Given the description of an element on the screen output the (x, y) to click on. 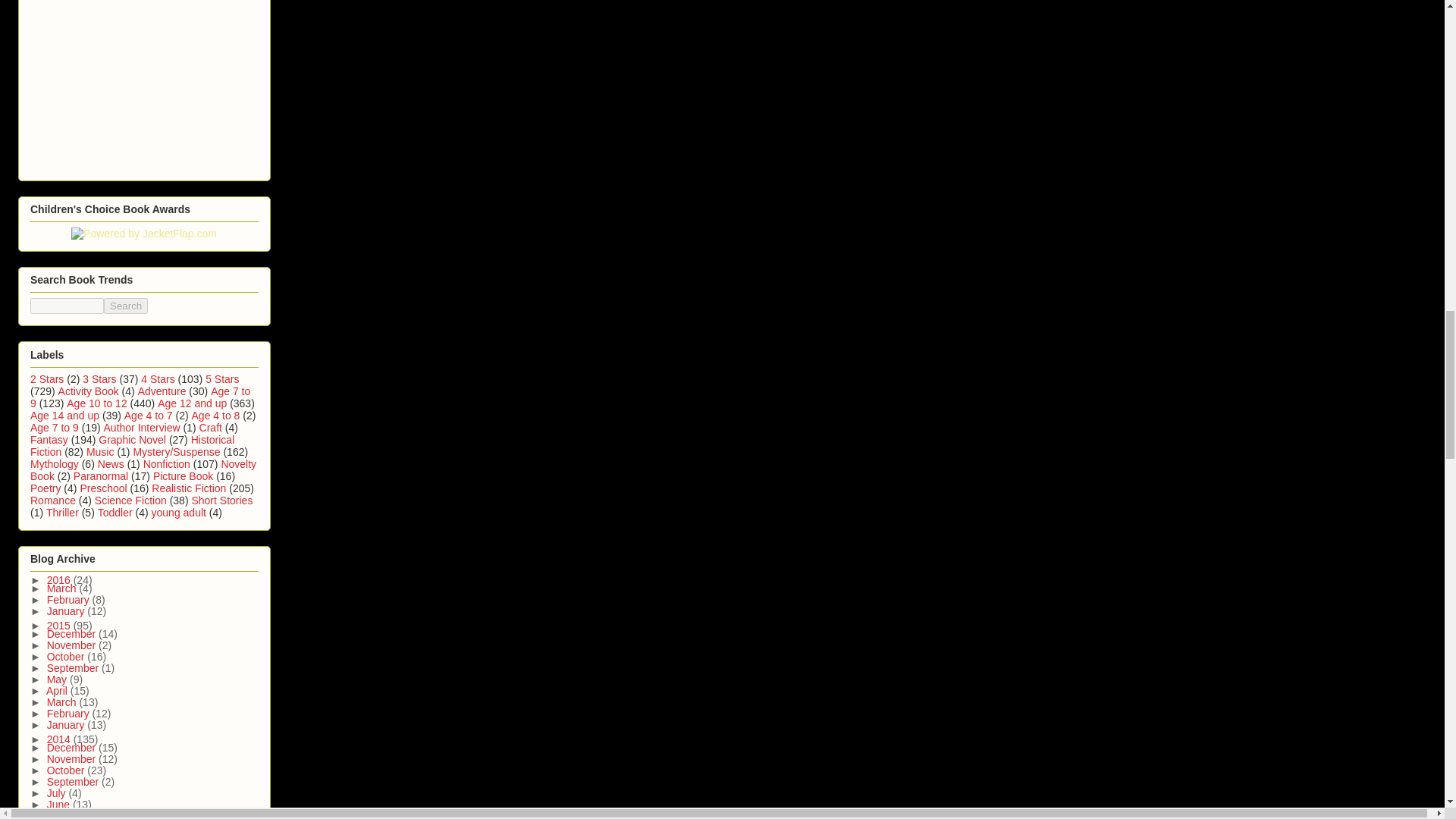
2 Stars (47, 378)
Author Interview (141, 427)
Age 12 and up (192, 403)
Graphic Novel (132, 439)
Advertisement (143, 83)
Age 4 to 7 (148, 415)
Fantasy (49, 439)
Music (100, 451)
Age 7 to 9 (54, 427)
Search (125, 305)
search (125, 305)
3 Stars (99, 378)
Craft (210, 427)
search (66, 305)
Age 4 to 8 (216, 415)
